Given the description of an element on the screen output the (x, y) to click on. 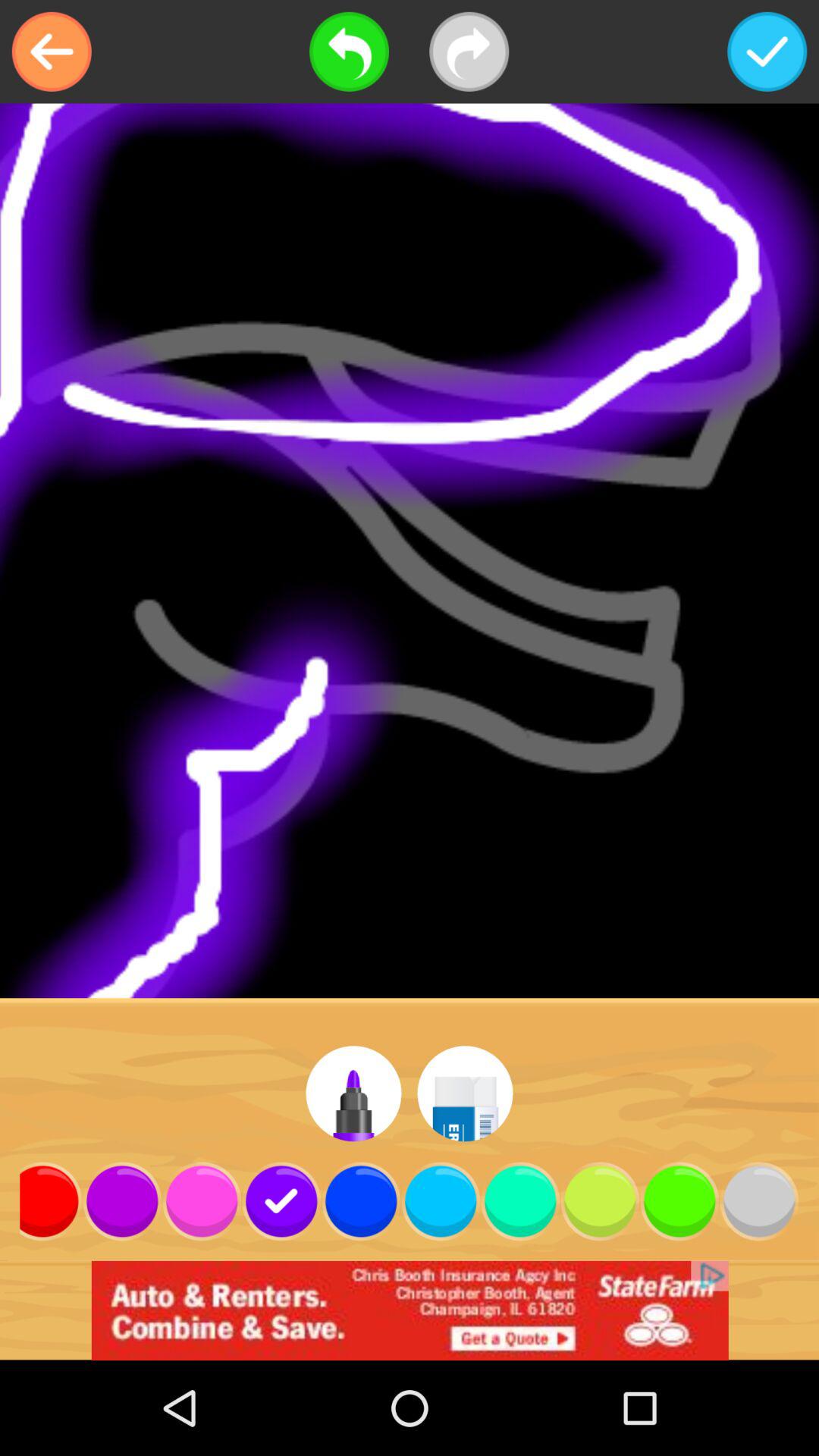
launch the icon at the top right corner (767, 51)
